Given the description of an element on the screen output the (x, y) to click on. 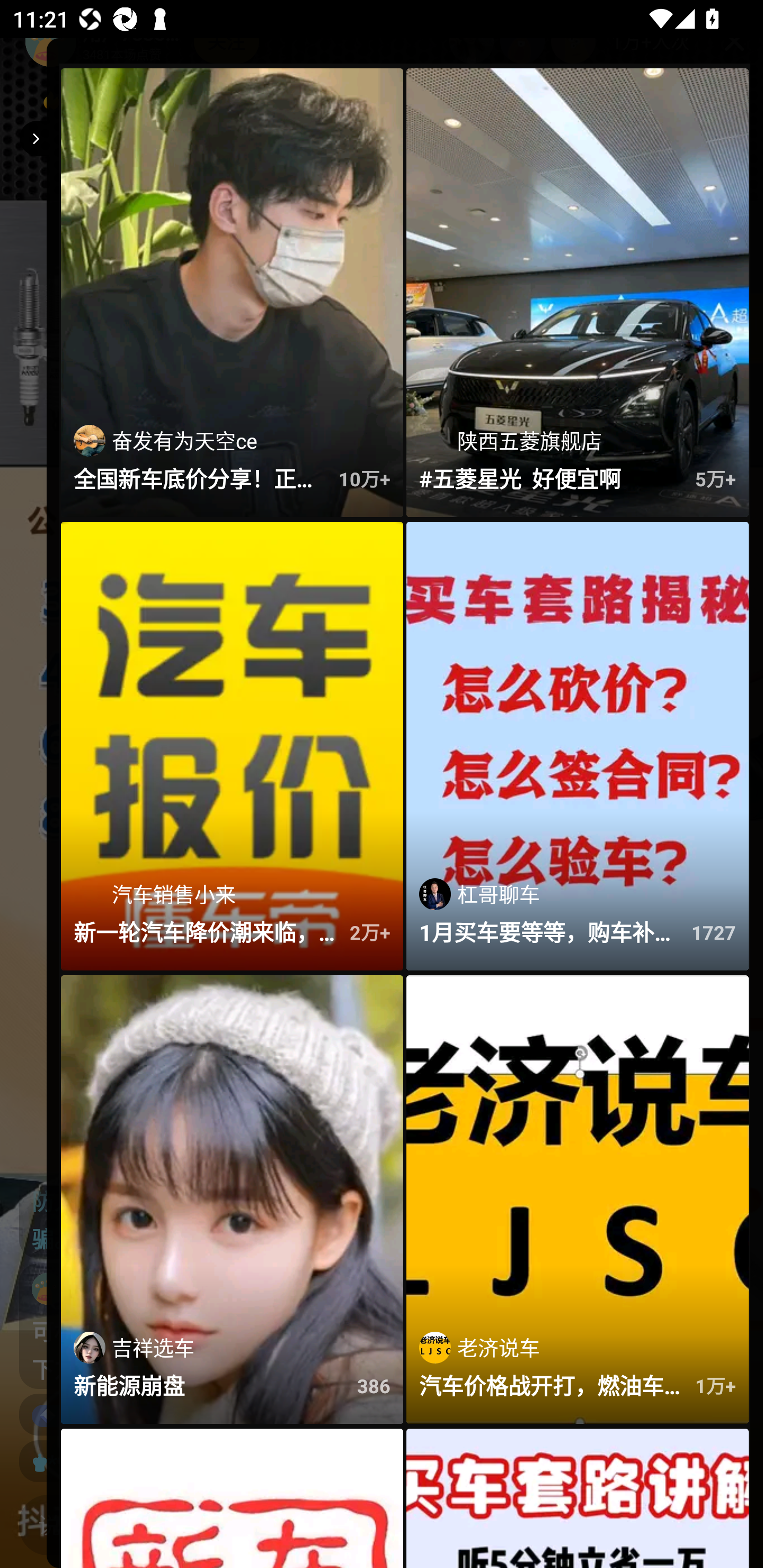
#五菱星光  好便宜啊 陕西五菱汽车 1337人在线 陕西五菱旗舰店 #五菱星光  好便宜啊 5万+ (577, 292)
返回 (32, 137)
新能源崩盘 吉祥选车 8人在线 吉祥选车 新能源崩盘 386 (231, 1199)
